Given the description of an element on the screen output the (x, y) to click on. 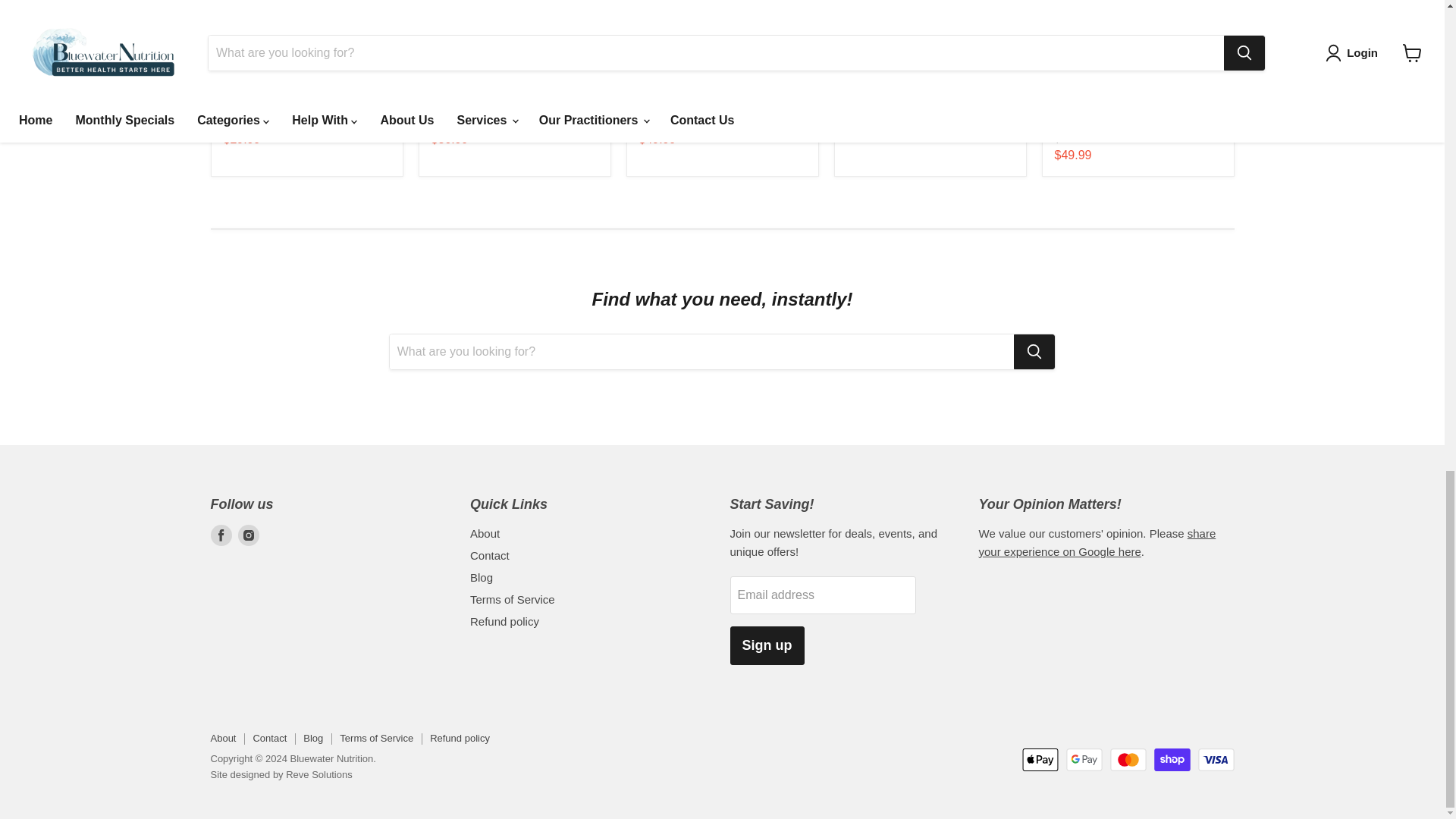
Facebook (221, 535)
Mastercard (1128, 759)
Google Pay (1083, 759)
Instagram (248, 535)
Apple Pay (1040, 759)
